Given the description of an element on the screen output the (x, y) to click on. 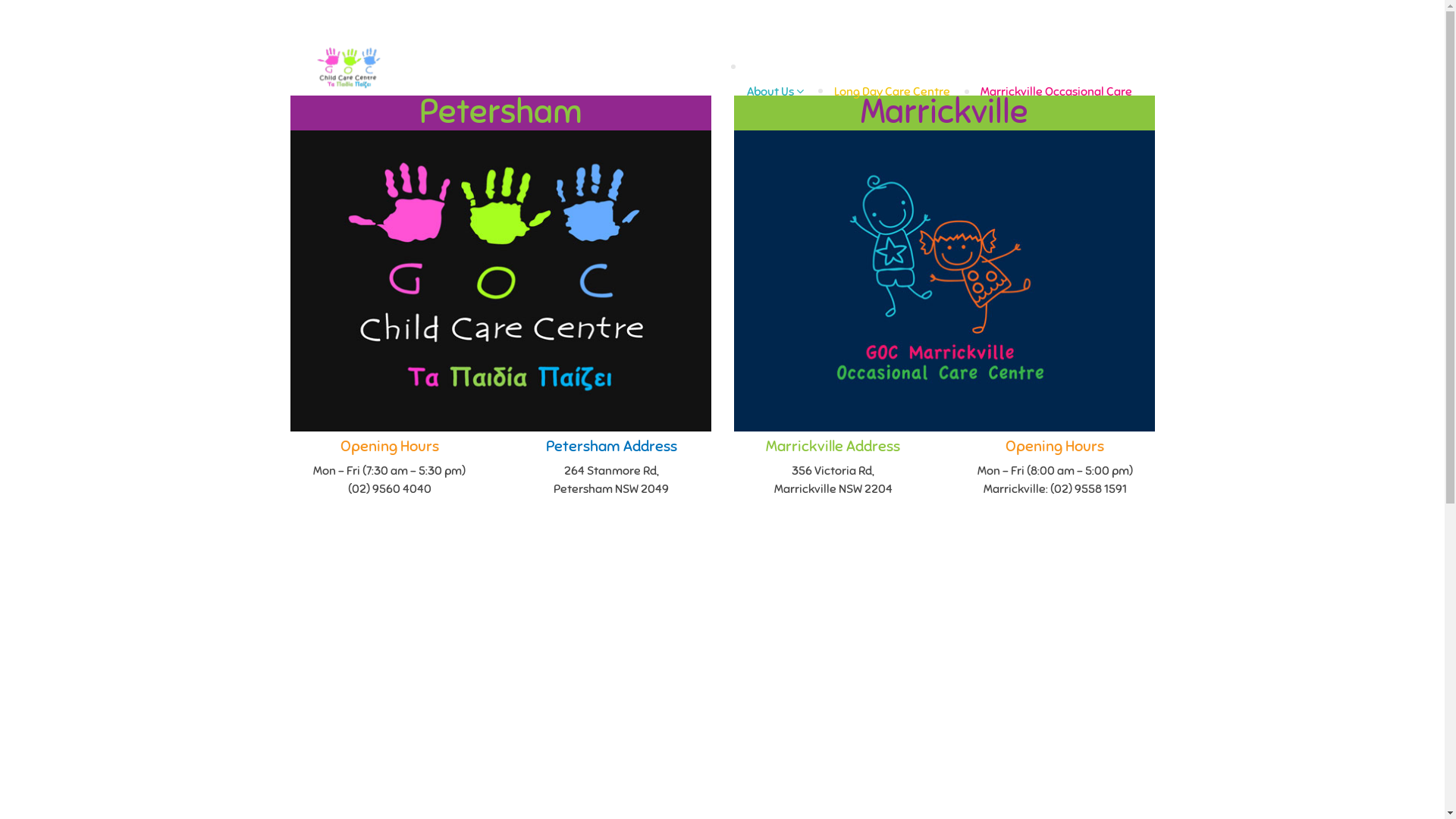
About Us Element type: text (774, 91)
Marrickville Occasional Care Element type: text (1055, 91)
Petersham Element type: text (499, 112)
Long Day Care Centre Element type: text (892, 91)
